Given the description of an element on the screen output the (x, y) to click on. 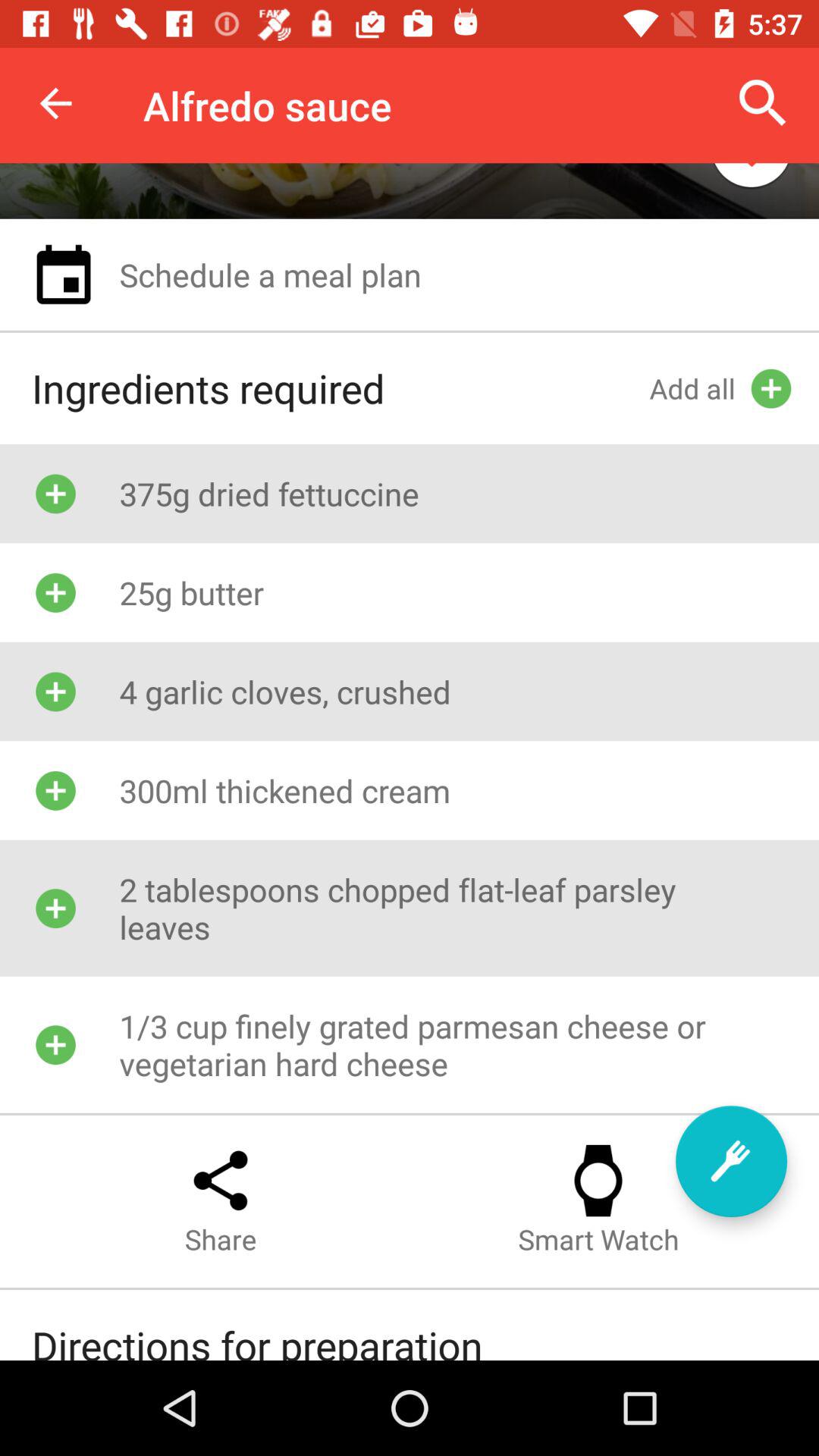
cook (731, 1161)
